Given the description of an element on the screen output the (x, y) to click on. 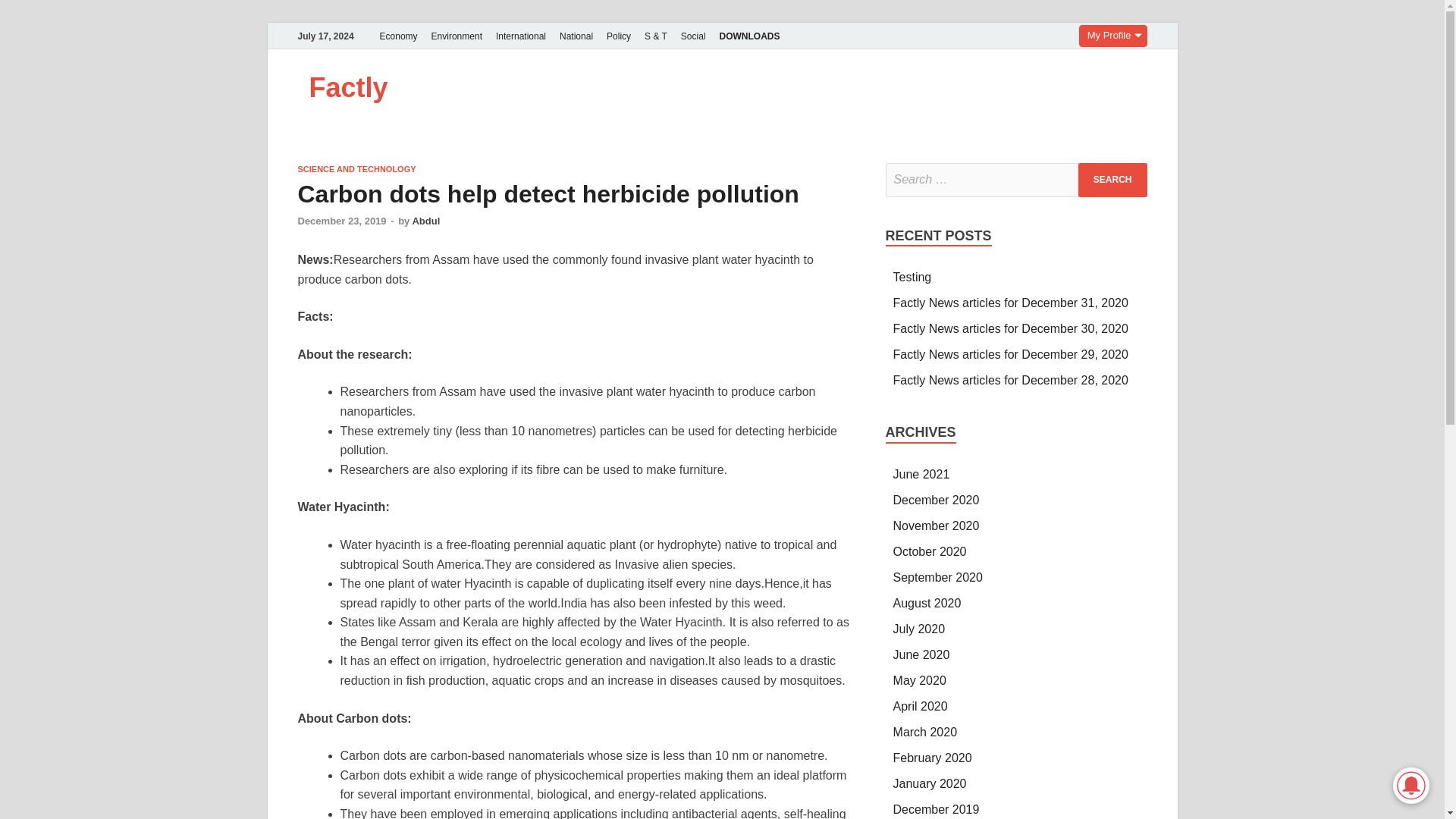
December 23, 2019 (341, 220)
Policy (618, 35)
Economy (398, 35)
Factly (348, 87)
International (521, 35)
National (576, 35)
Search (1112, 179)
Social (693, 35)
SCIENCE AND TECHNOLOGY (355, 168)
Environment (457, 35)
Search (1112, 179)
DOWNLOADS (750, 35)
Abdul (425, 220)
